Given the description of an element on the screen output the (x, y) to click on. 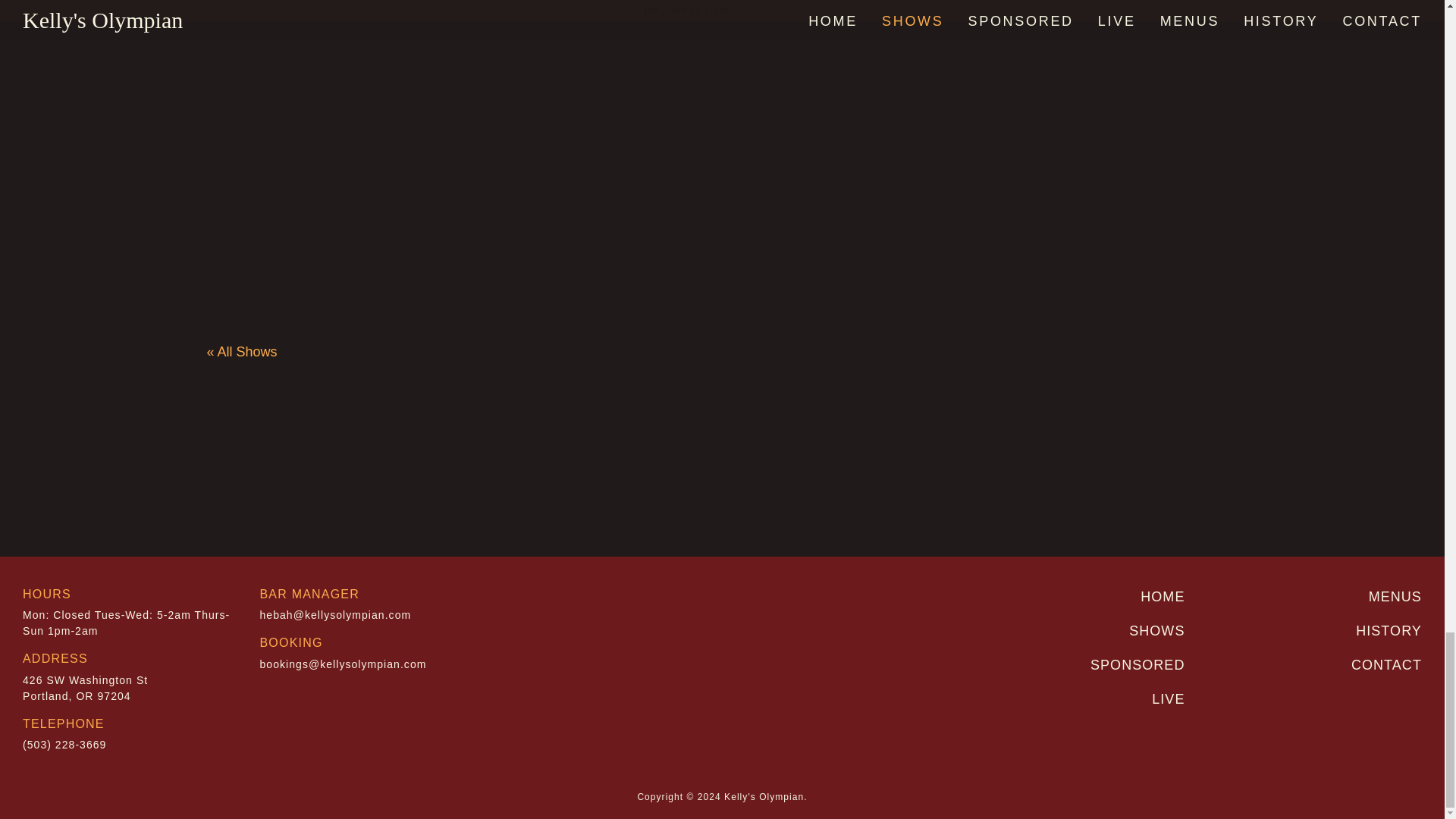
SPONSORED (1137, 664)
SHOWS (1157, 630)
HOME (85, 687)
